Given the description of an element on the screen output the (x, y) to click on. 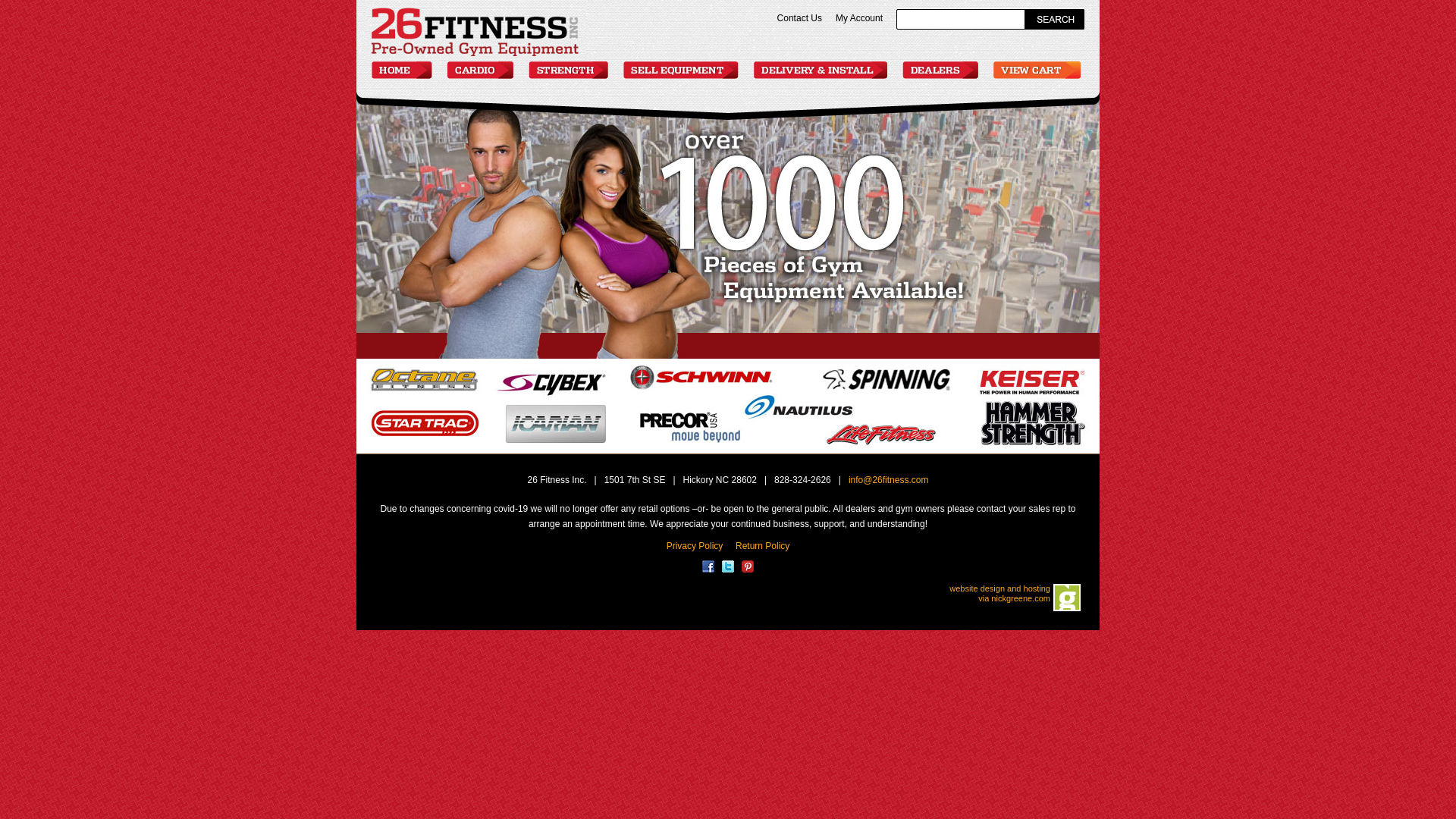
Return Policy Element type: text (762, 545)
View Cart Element type: hover (1036, 69)
Contact Us Element type: text (799, 17)
Privacy Policy Element type: text (694, 545)
  Element type: text (1054, 18)
info@26fitness.com Element type: text (888, 479)
website design and hosting
via nickgreene.com Element type: text (999, 592)
My Account Element type: text (858, 17)
